Given the description of an element on the screen output the (x, y) to click on. 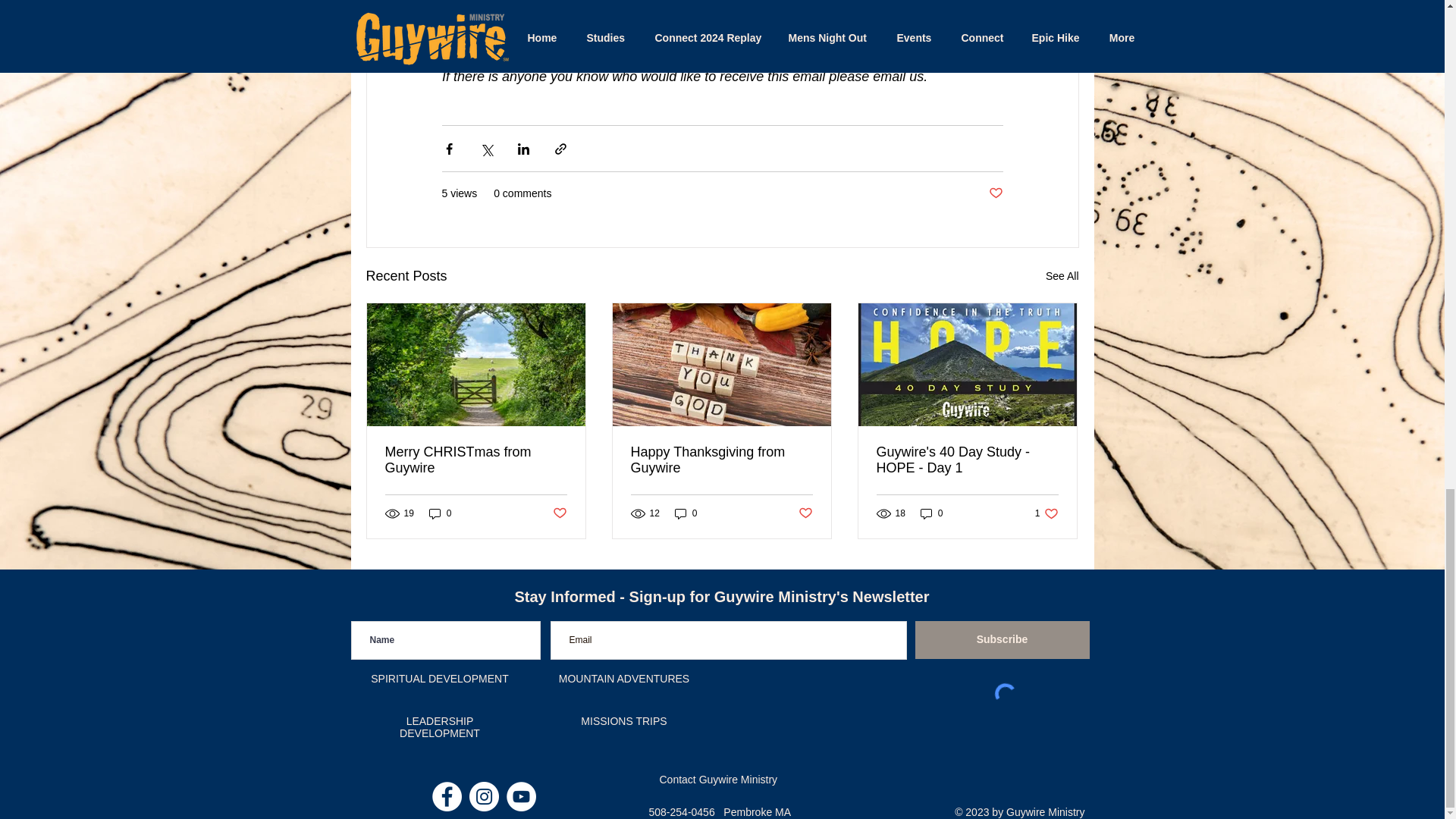
Post not marked as liked (995, 193)
Subscribe (1001, 639)
SPIRITUAL DEVELOPMENT (439, 678)
MOUNTAIN ADVENTURES (623, 678)
0 (1046, 513)
Happy Thanksgiving from Guywire (685, 513)
0 (721, 459)
Guywire's 40 Day Study - HOPE - Day 1 (931, 513)
Merry CHRISTmas from Guywire (967, 459)
